Given the description of an element on the screen output the (x, y) to click on. 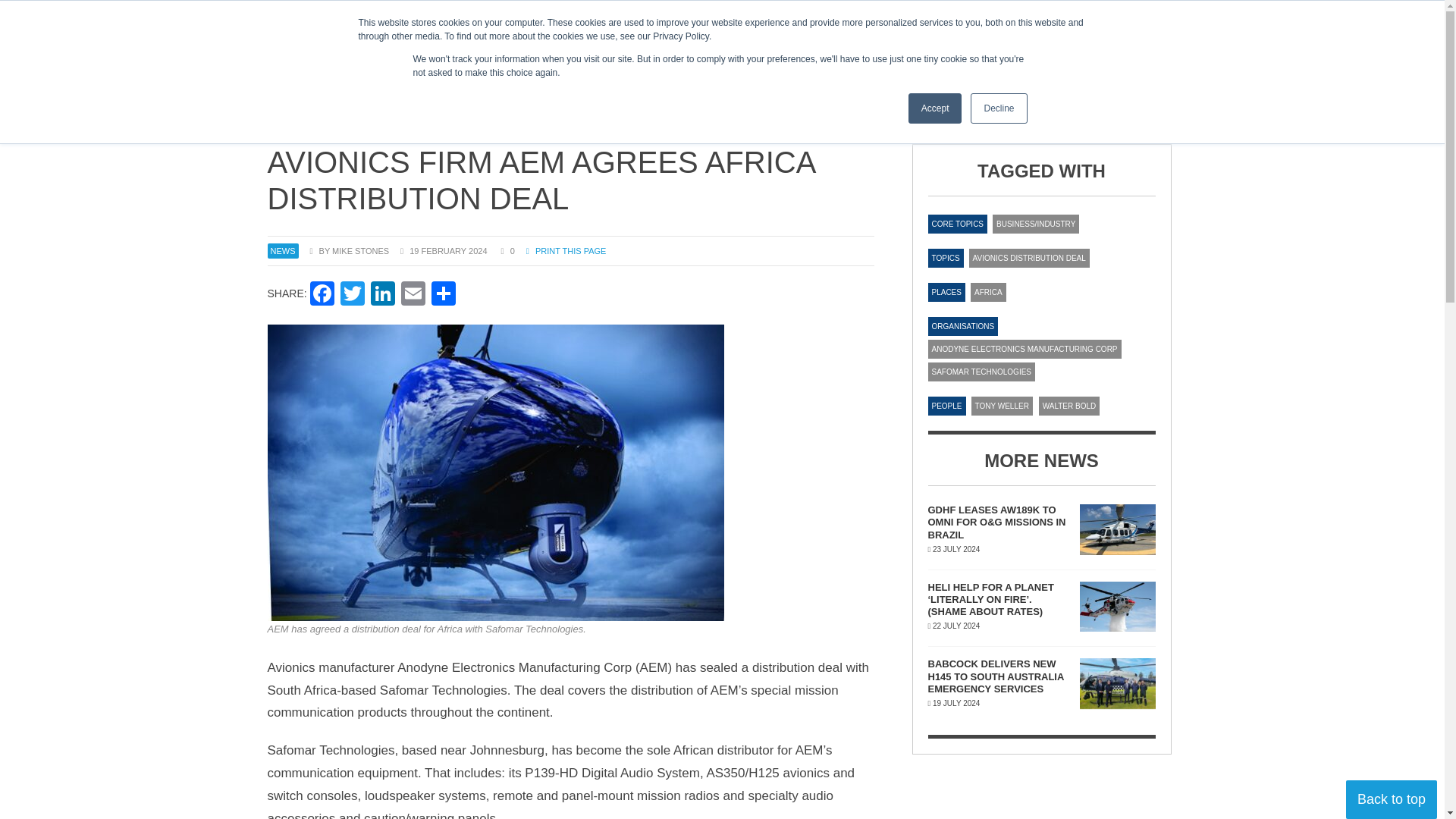
INSIGHTS (595, 70)
NEWSLETTER (770, 70)
PRINT THIS PAGE (566, 250)
CONTACT (335, 15)
Email (412, 295)
NEWS (537, 70)
REGISTRATION (676, 70)
EVENTS (1016, 70)
SPONSORSHIP (405, 15)
Email (412, 295)
Go to top (1391, 799)
Twitter (683, 15)
LinkedIn (352, 295)
Twitter (382, 295)
